Given the description of an element on the screen output the (x, y) to click on. 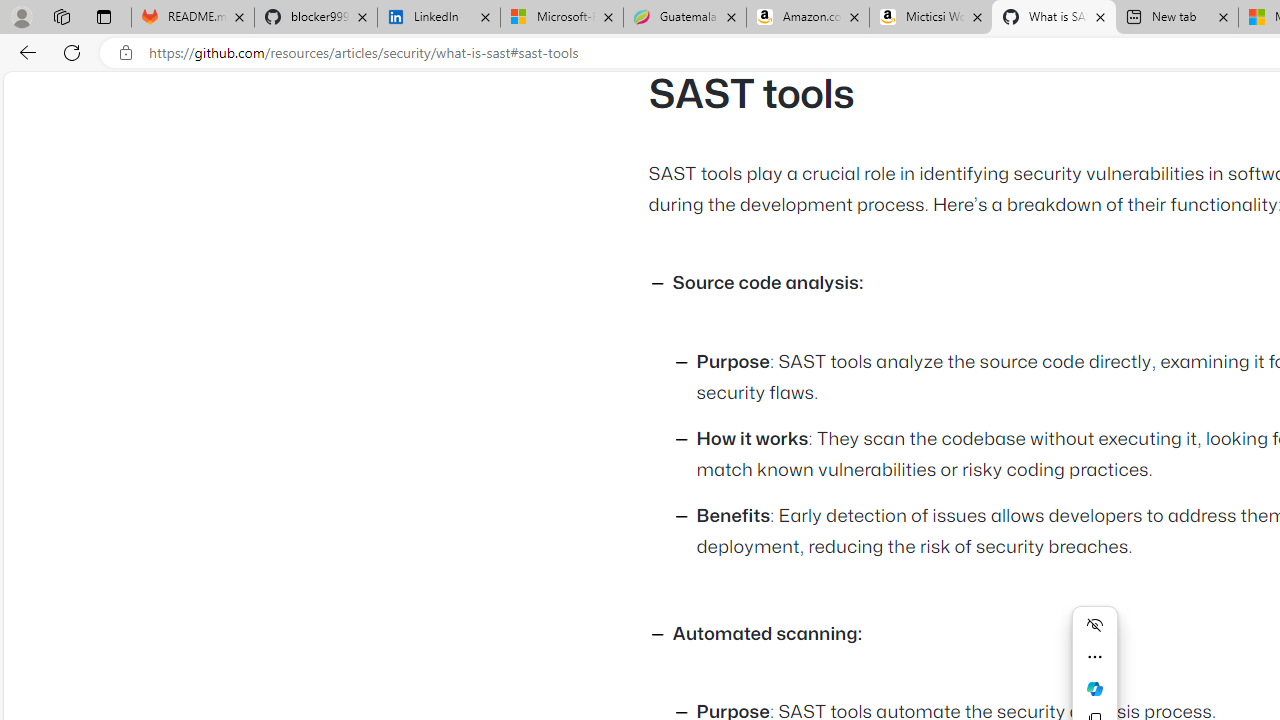
Hide menu (1094, 624)
